Given the description of an element on the screen output the (x, y) to click on. 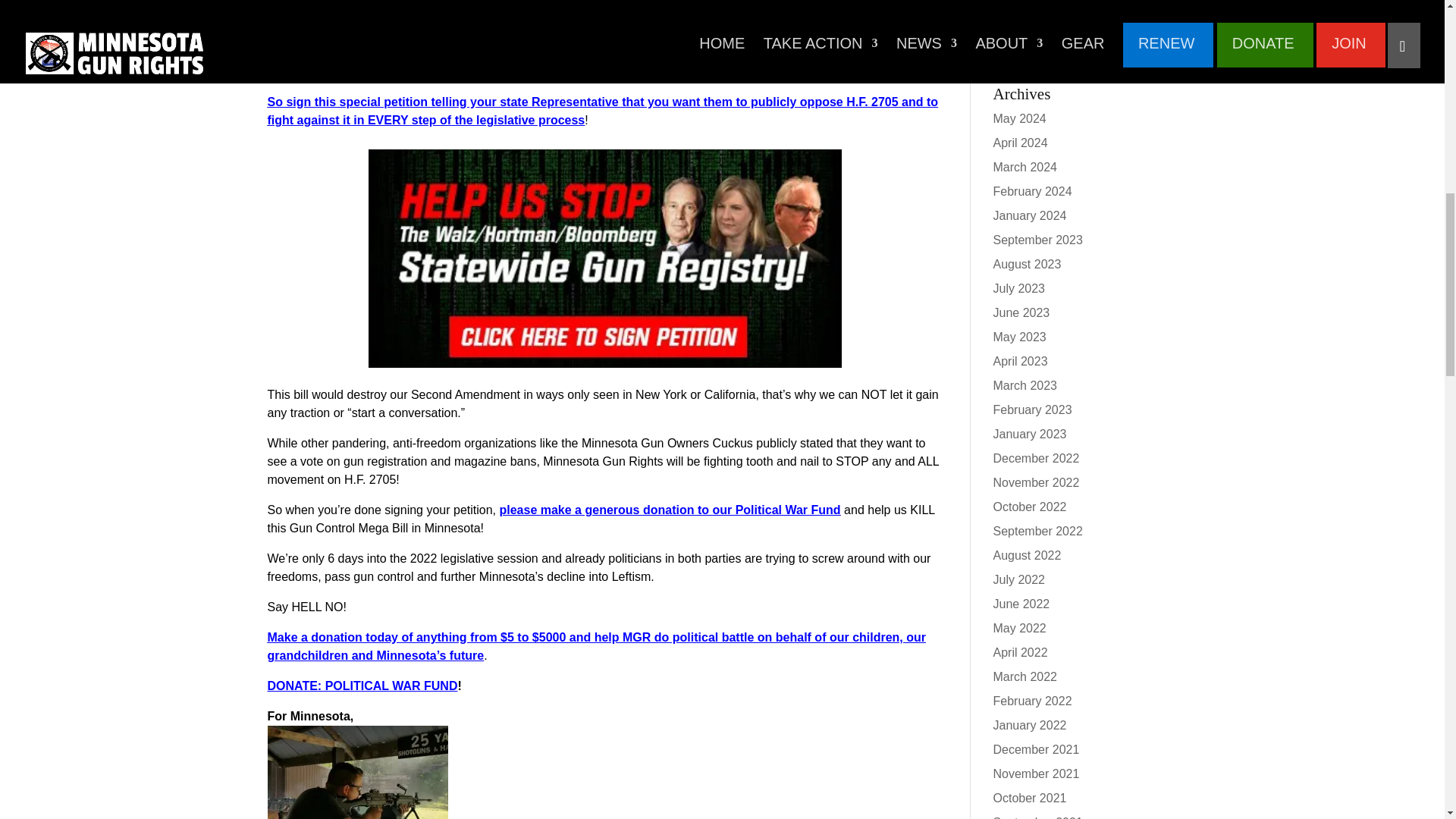
Latest News (1025, 14)
please make a generous donation to our Political War Fund (669, 509)
DONATE: POLITICAL WAR FUND! (363, 685)
